Given the description of an element on the screen output the (x, y) to click on. 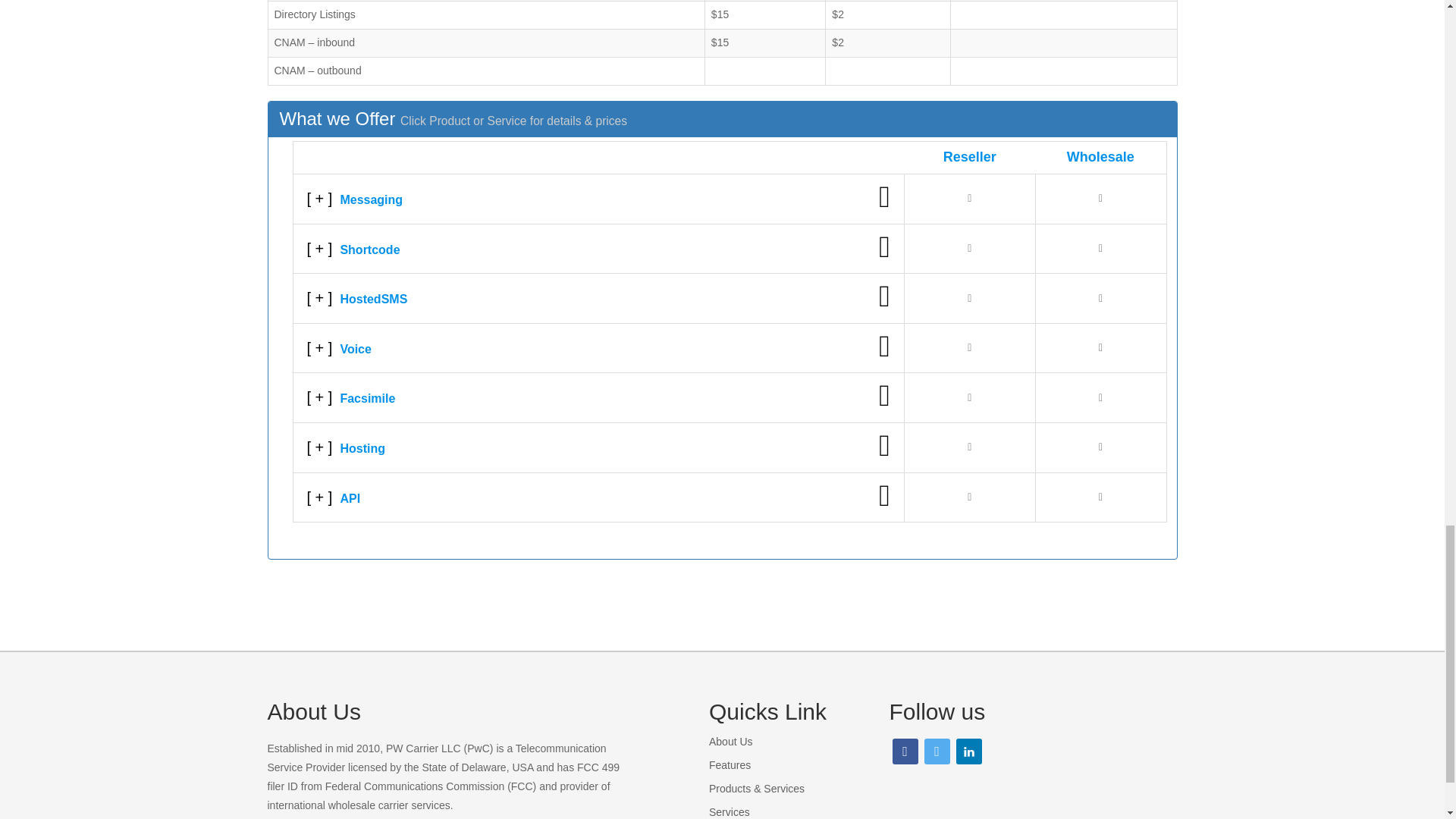
Voice (597, 348)
Shortcode (597, 248)
HostedSMS (597, 298)
Features (730, 765)
Facsimile (597, 397)
Services (729, 811)
twitter (936, 750)
facebook (904, 750)
Messaging (597, 198)
About Us (730, 741)
API (597, 497)
linkedin (968, 750)
Hosting (597, 447)
